Given the description of an element on the screen output the (x, y) to click on. 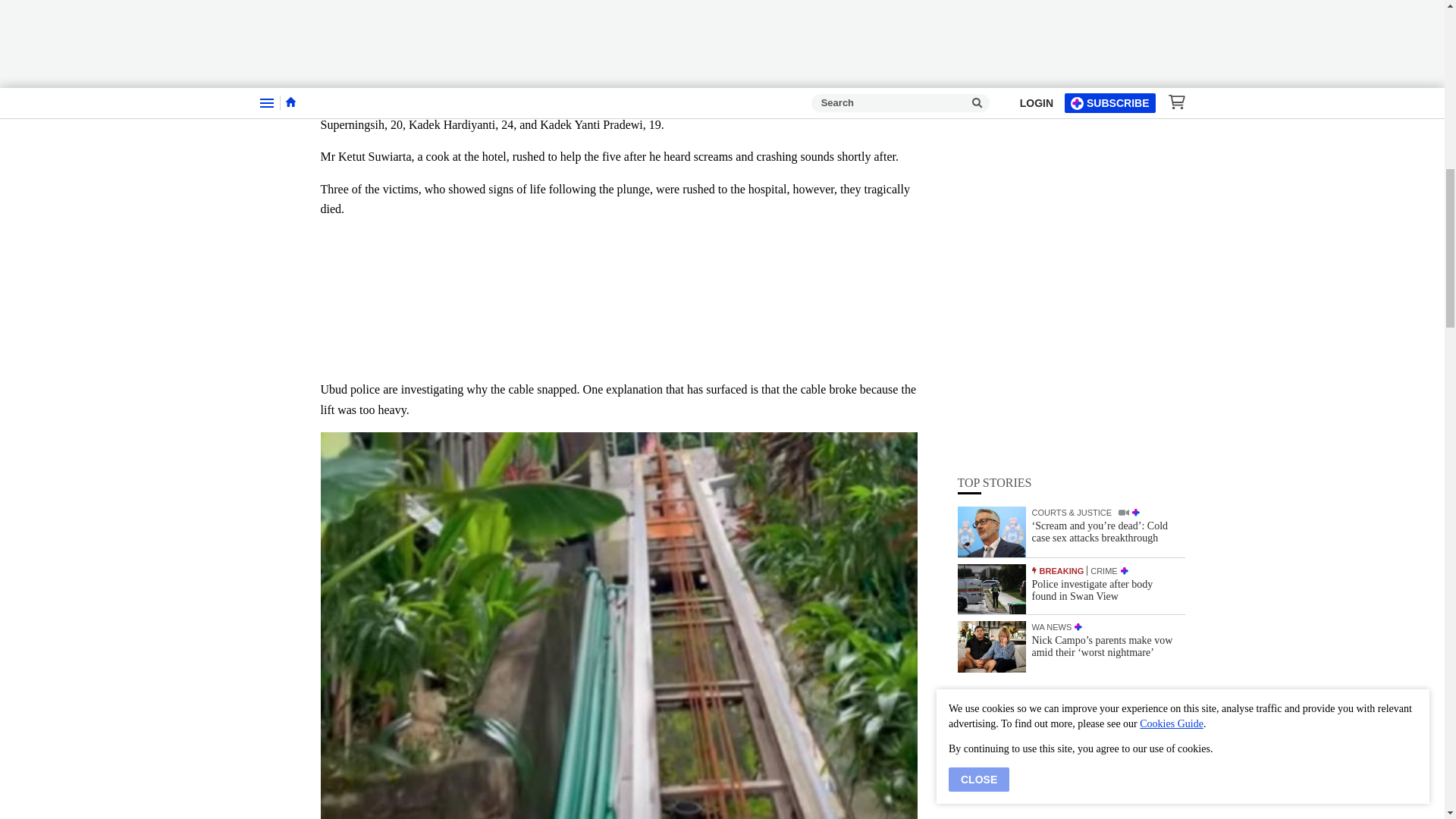
VIDEO (1123, 161)
